Given the description of an element on the screen output the (x, y) to click on. 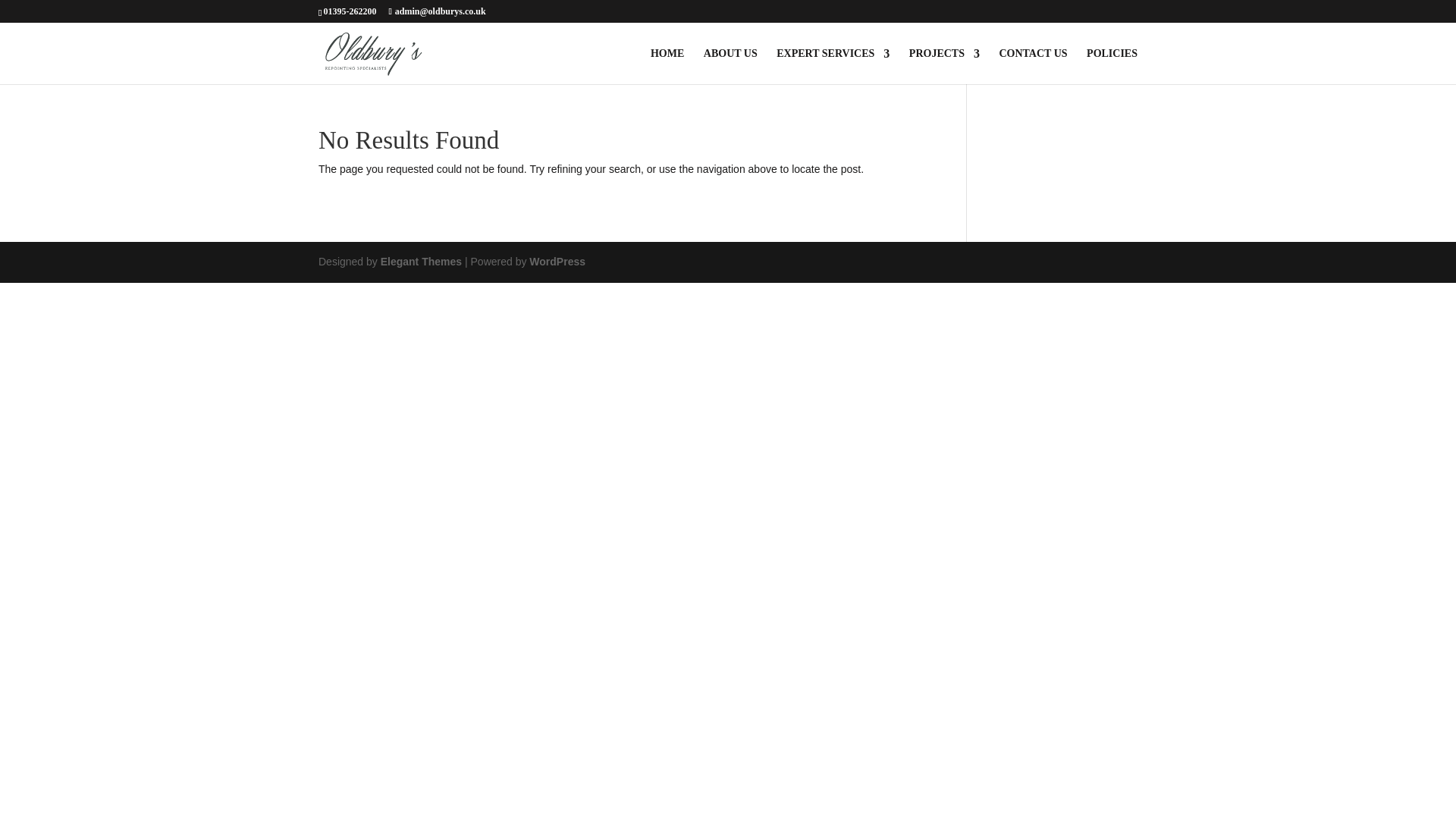
01395-262200 (349, 10)
HOME (667, 66)
PROJECTS (943, 66)
Elegant Themes (420, 261)
ABOUT US (730, 66)
POLICIES (1111, 66)
EXPERT SERVICES (832, 66)
Premium WordPress Themes (420, 261)
CONTACT US (1032, 66)
WordPress (557, 261)
